Given the description of an element on the screen output the (x, y) to click on. 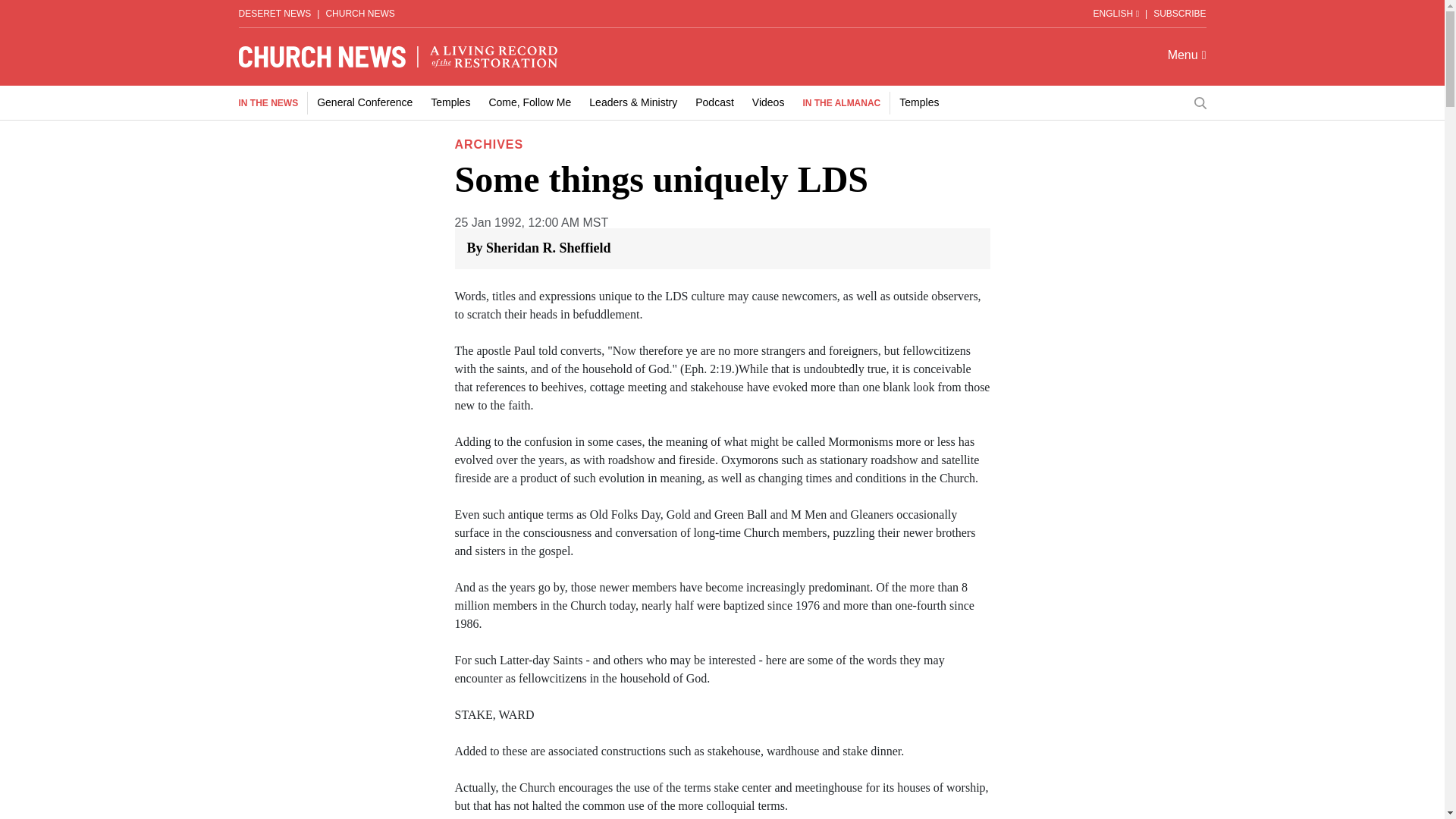
DESERET NEWS (274, 13)
Podcast (714, 102)
Temples (450, 102)
Come, Follow Me (528, 102)
Temples (919, 102)
CHURCH NEWS (359, 13)
Videos (768, 102)
General Conference (364, 102)
SUBSCRIBE (1179, 13)
